Given the description of an element on the screen output the (x, y) to click on. 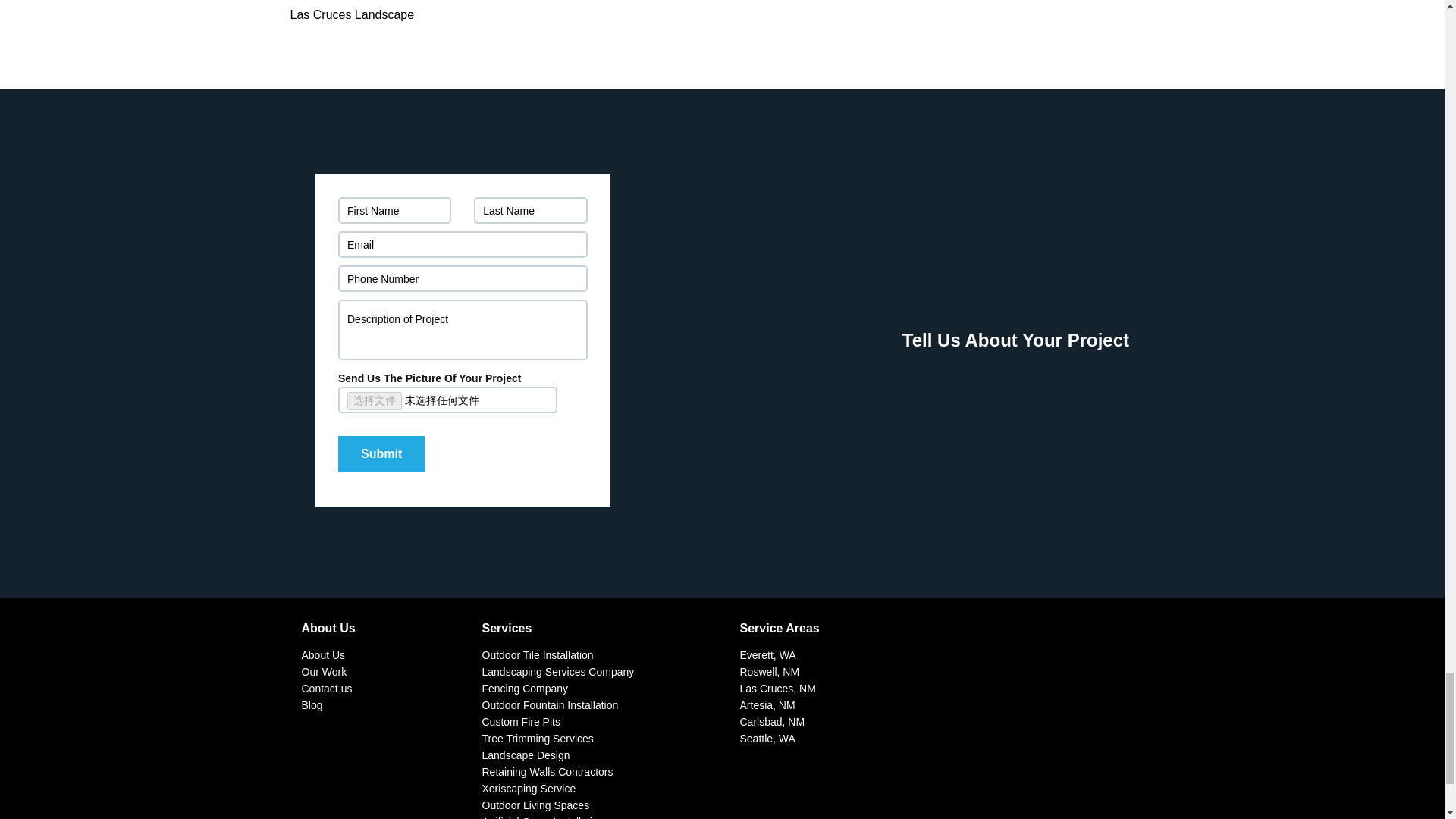
Phone Number (462, 278)
Last Name (530, 210)
Email (462, 243)
First Name (394, 210)
Submit (381, 453)
